Given the description of an element on the screen output the (x, y) to click on. 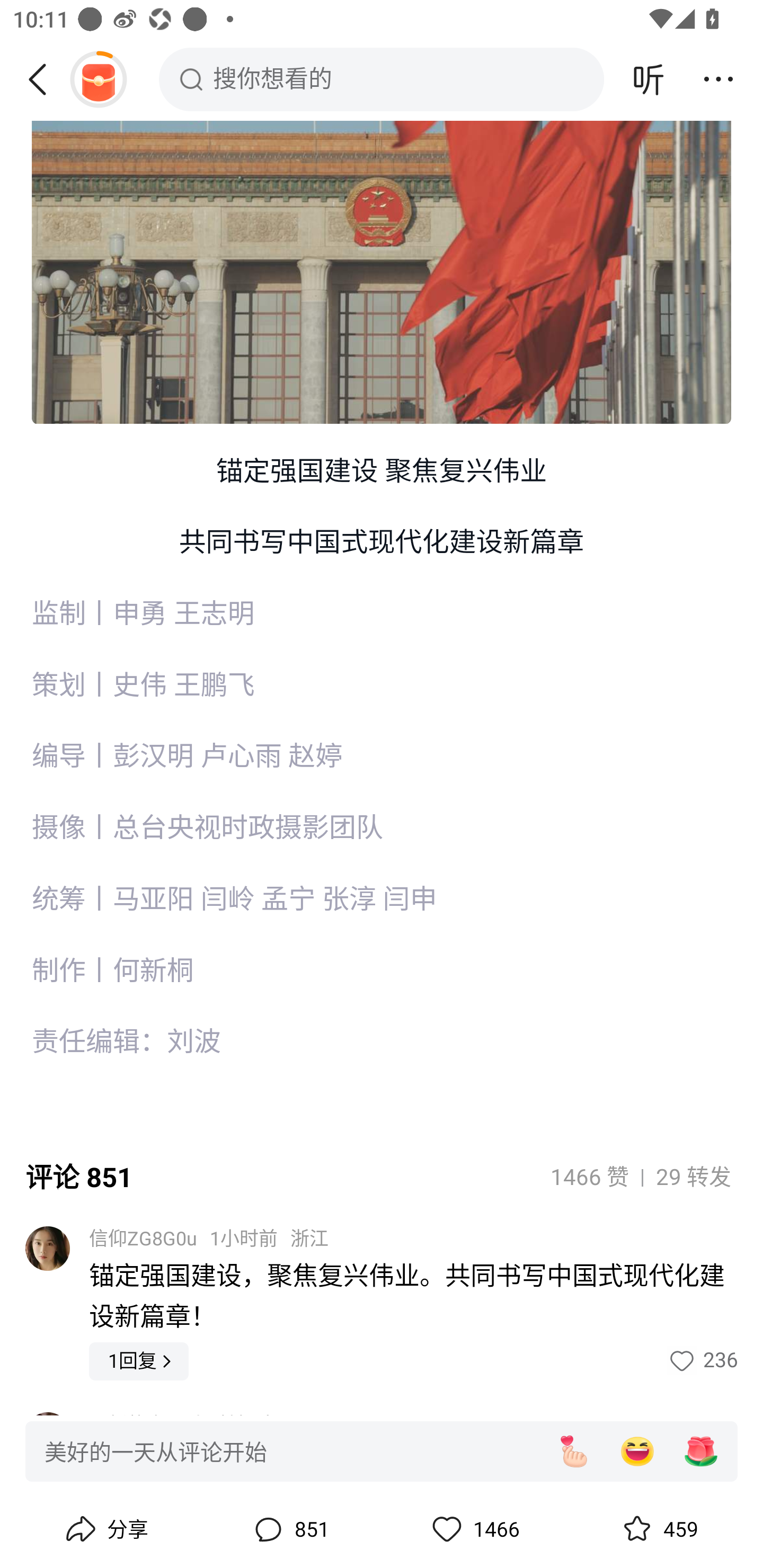
图片，点击识别内容 (381, 227)
返回 (44, 78)
听头条 (648, 78)
更多操作 (718, 78)
搜你想看的 搜索框，搜你想看的 (381, 79)
阅读赚金币 (98, 79)
信仰ZG8G0u 1小时前 浙江 (208, 1238)
1回复 (138, 1360)
美好的一天从评论开始 [比心] [大笑] [玫瑰] (381, 1449)
[比心] (573, 1451)
[大笑] (636, 1451)
[玫瑰] (700, 1451)
分享 (104, 1529)
评论,851 851 (288, 1529)
收藏,459 459 (658, 1529)
